Given the description of an element on the screen output the (x, y) to click on. 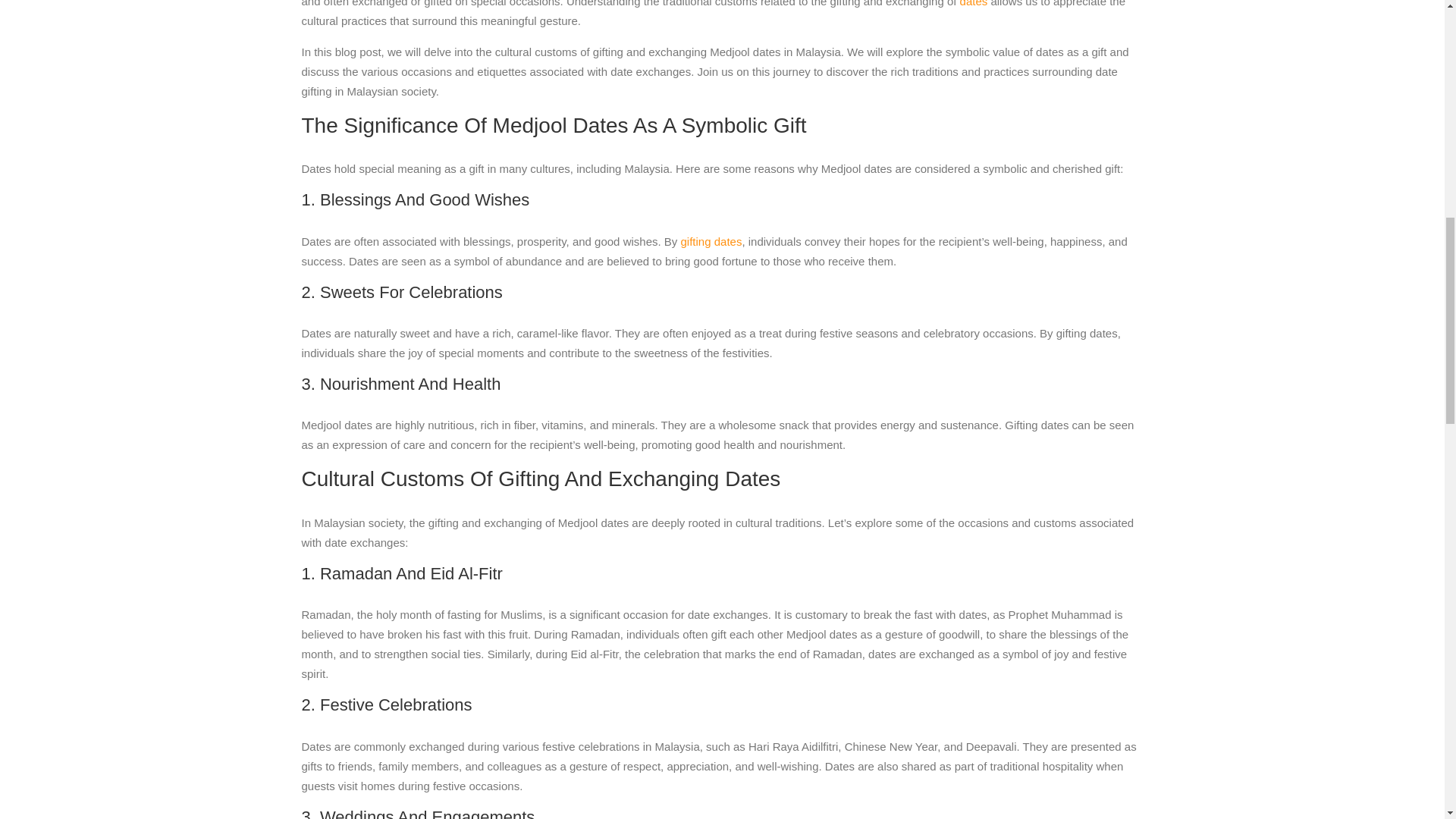
gifting dates (711, 241)
dates (973, 3)
